Given the description of an element on the screen output the (x, y) to click on. 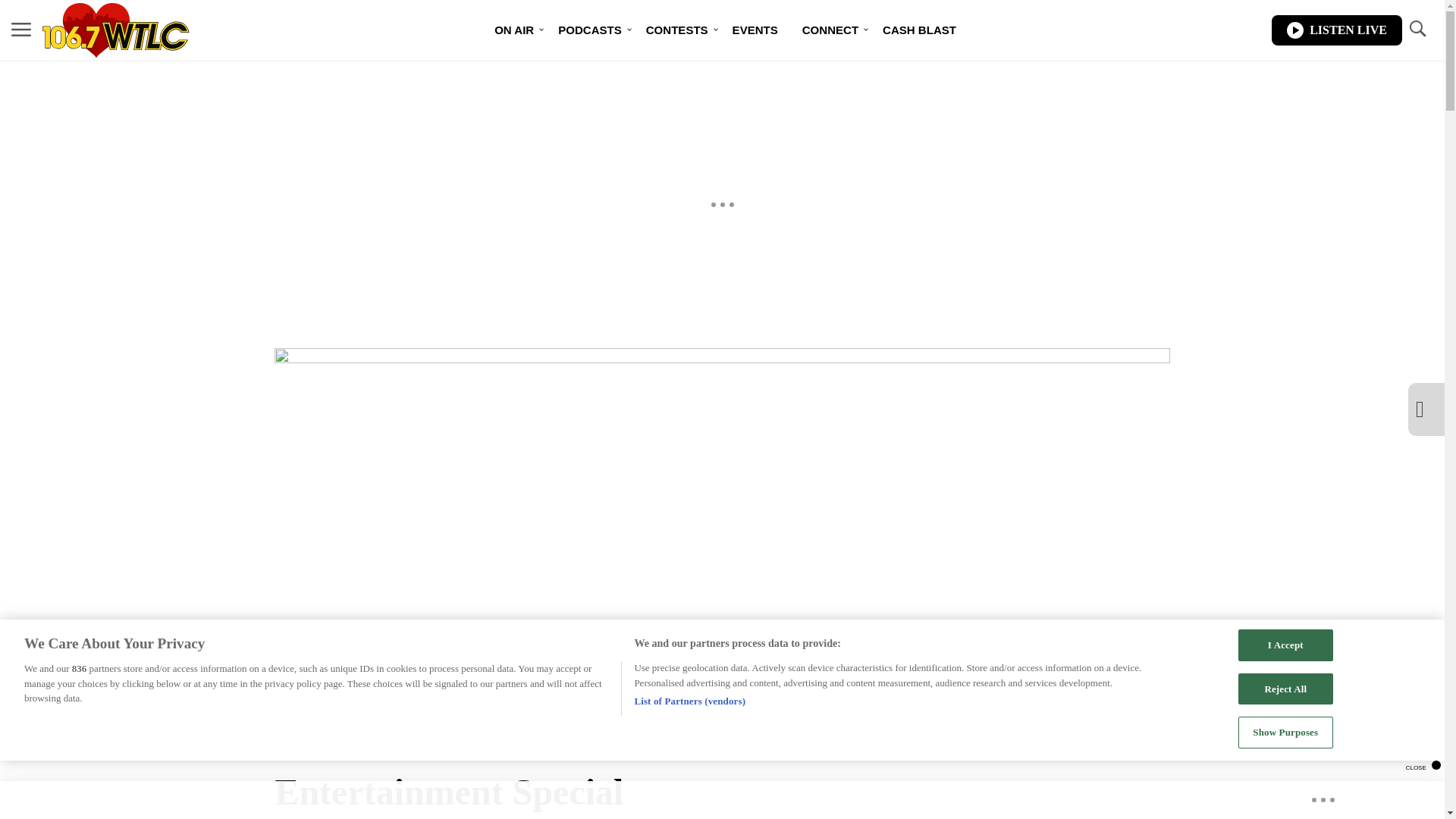
CONNECT (830, 30)
CASH BLAST (919, 30)
MENU (20, 30)
ON AIR (513, 30)
MENU (20, 29)
TOGGLE SEARCH (1417, 28)
TOGGLE SEARCH (1417, 30)
CONTESTS (676, 30)
PODCASTS (589, 30)
EVENTS (755, 30)
LISTEN LIVE (1336, 30)
